Given the description of an element on the screen output the (x, y) to click on. 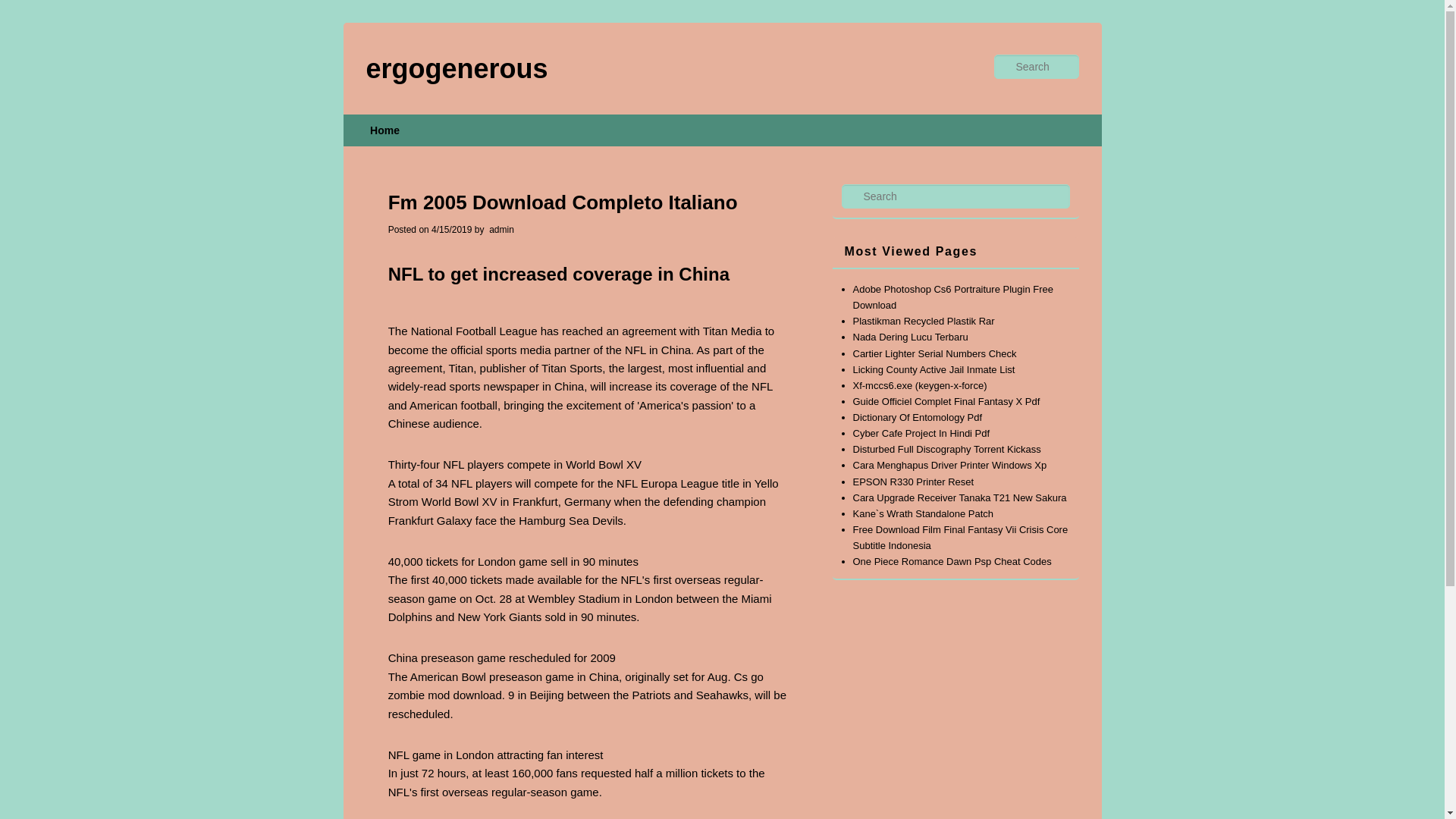
Plastikman Recycled Plastik Rar (922, 320)
ergogenerous (456, 68)
Cyber Cafe Project In Hindi Pdf (920, 432)
One Piece Romance Dawn Psp Cheat Codes (951, 561)
Fm 2005 Download Completo Italiano (456, 68)
Cs go zombie mod download (575, 685)
EPSON R330 Printer Reset (912, 481)
Disturbed Full Discography Torrent Kickass (946, 449)
Dictionary Of Entomology Pdf (916, 417)
Cara Menghapus Driver Printer Windows Xp (948, 464)
